Given the description of an element on the screen output the (x, y) to click on. 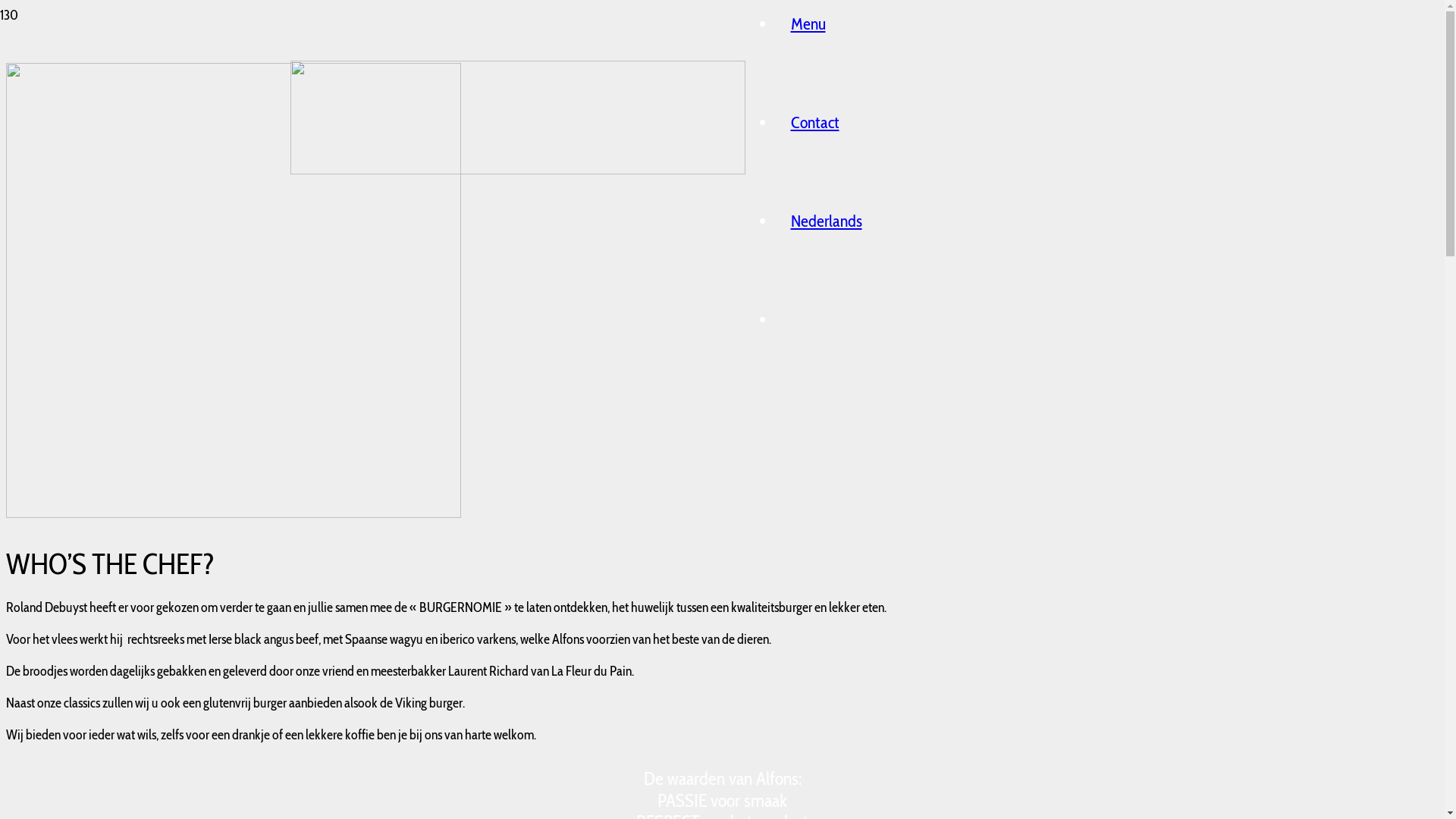
Contact Element type: text (814, 122)
Menu Element type: text (807, 23)
Nederlands Element type: text (825, 220)
